Given the description of an element on the screen output the (x, y) to click on. 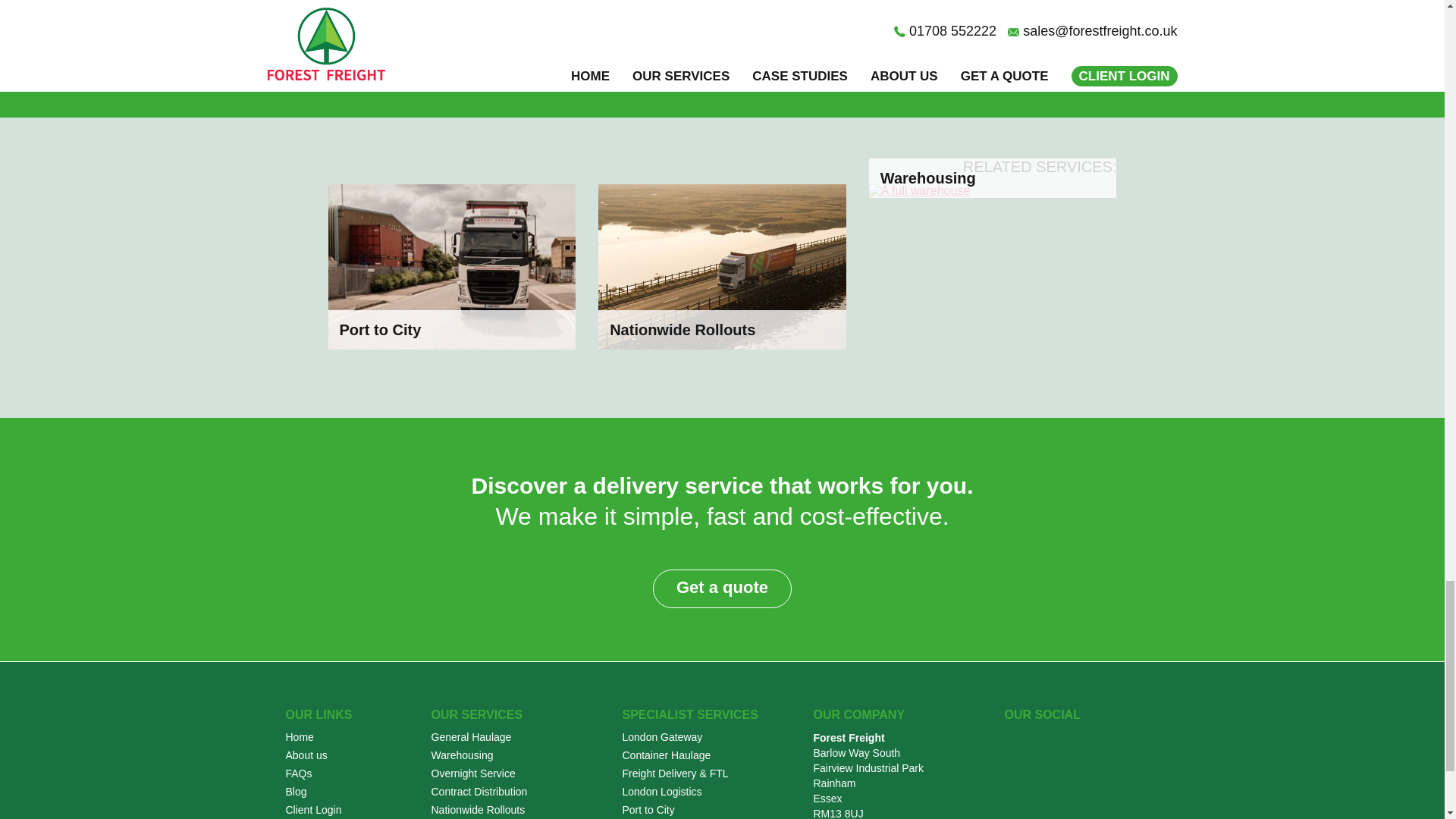
Blog (295, 791)
FAQs (298, 773)
warehousing (919, 191)
Client Login (312, 809)
About us (305, 755)
port to city (451, 266)
Get a quote (722, 588)
Home (299, 736)
nationwide-600x400 (721, 266)
